Given the description of an element on the screen output the (x, y) to click on. 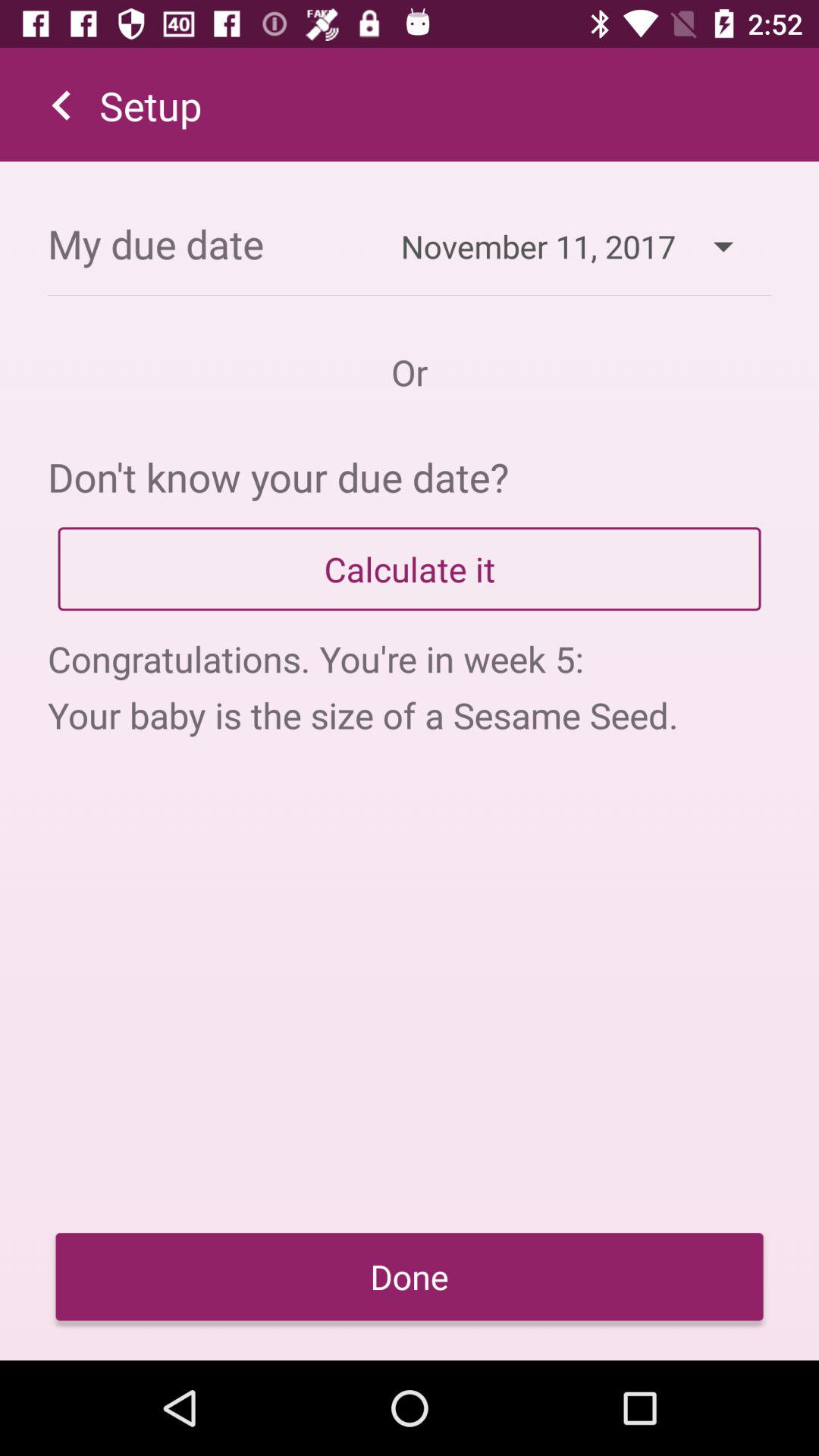
scroll until the calculate it item (409, 568)
